Given the description of an element on the screen output the (x, y) to click on. 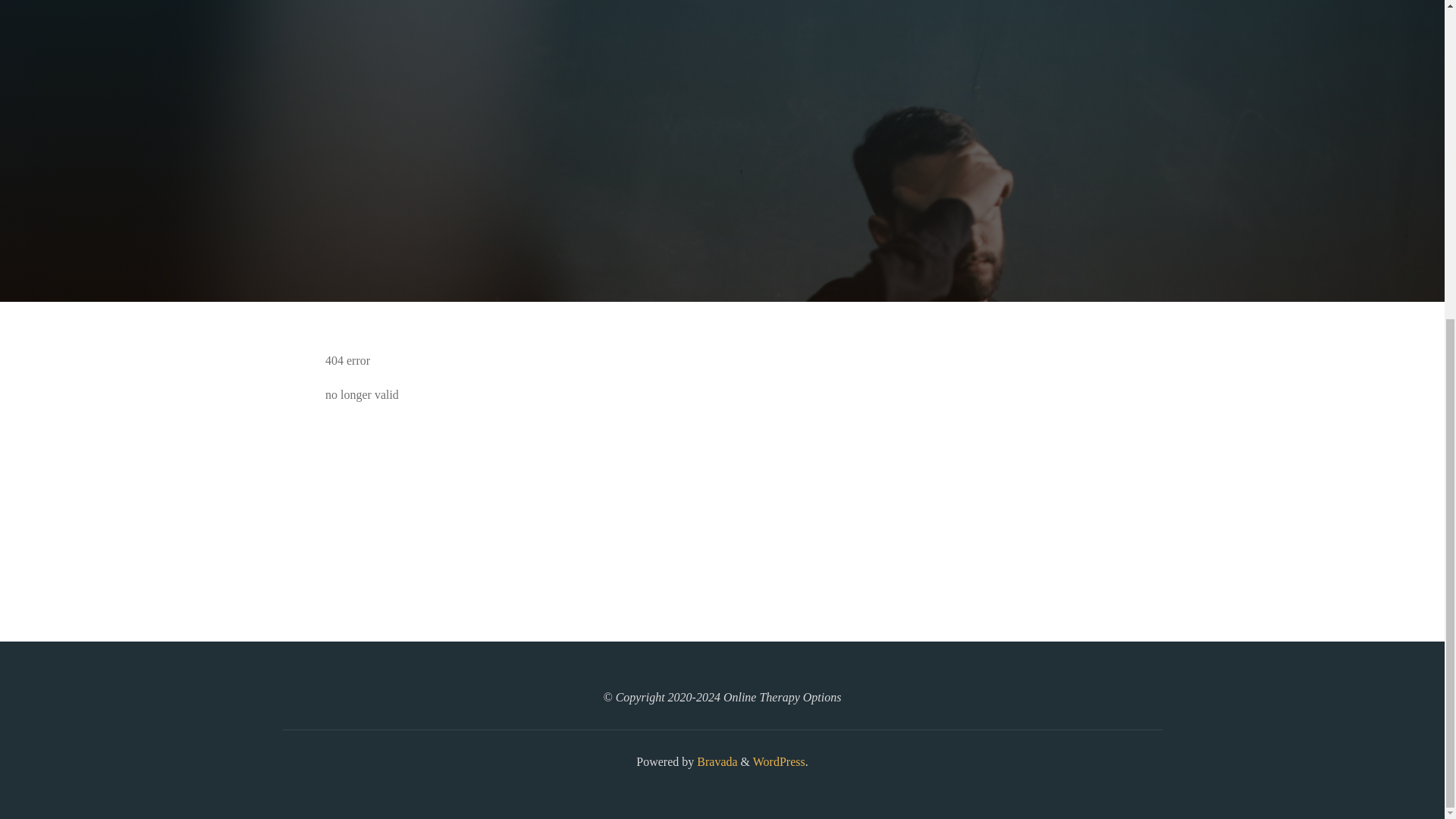
WordPress (778, 761)
Read more (721, 207)
Semantic Personal Publishing Platform (778, 761)
Bravada WordPress Theme by Cryout Creations (715, 761)
Bravada (715, 761)
